Given the description of an element on the screen output the (x, y) to click on. 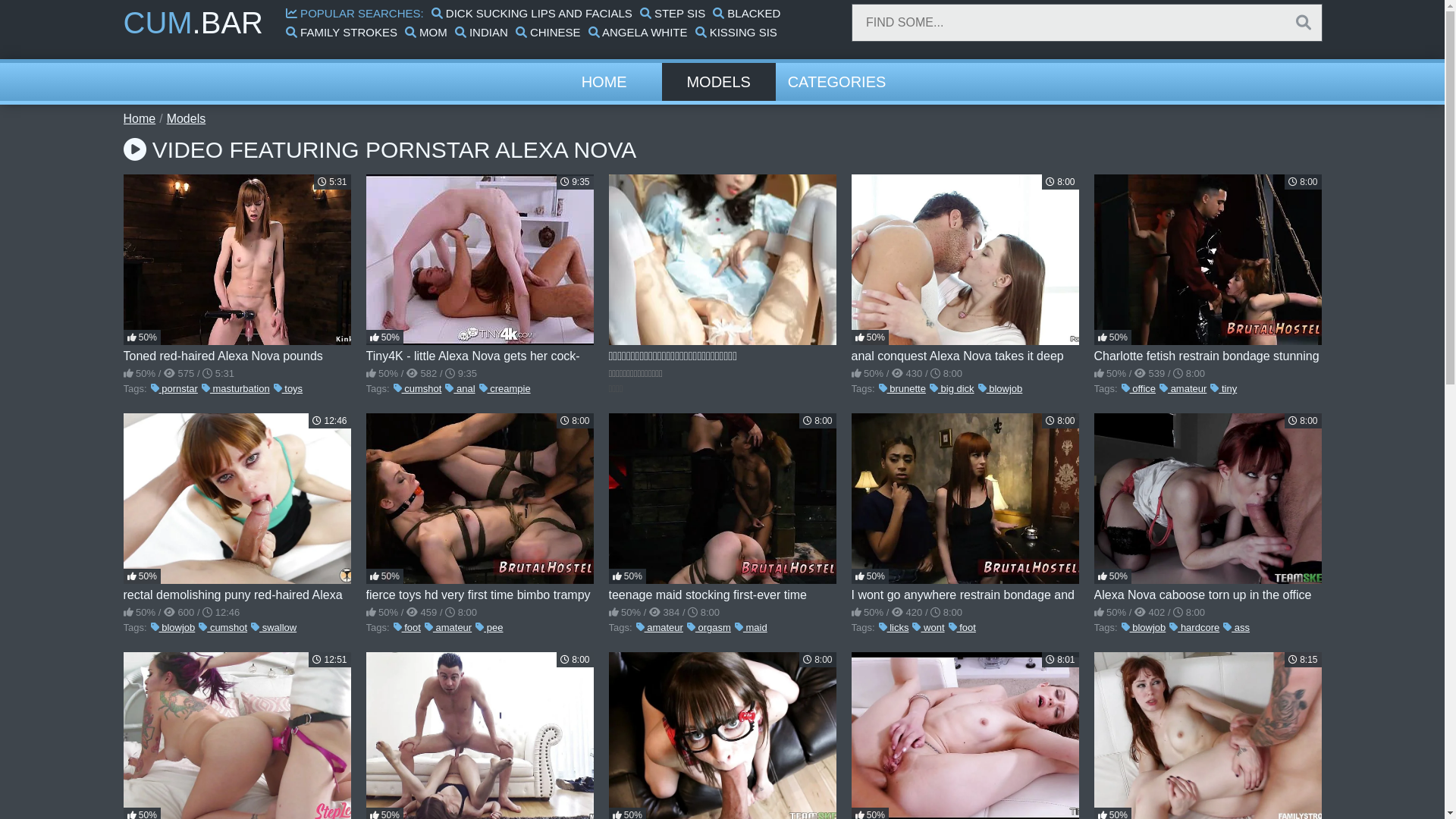
pornstar Element type: text (173, 388)
blowjob Element type: text (172, 627)
Models Element type: text (186, 118)
creampie Element type: text (504, 388)
foot Element type: text (406, 627)
swallow Element type: text (273, 627)
masturbation Element type: text (235, 388)
Toned red-haired Alexa Nova pounds machine Element type: text (236, 269)
pee Element type: text (488, 627)
Search Element type: hover (1303, 22)
tiny Element type: text (1223, 388)
FAMILY STROKES Element type: text (341, 31)
CHINESE Element type: text (547, 31)
amateur Element type: text (1182, 388)
INDIAN Element type: text (481, 31)
maid Element type: text (750, 627)
ass Element type: text (1236, 627)
blowjob Element type: text (1000, 388)
Home Element type: text (138, 118)
big dick Element type: text (951, 388)
foot Element type: text (961, 627)
toys Element type: text (287, 388)
STEP SIS Element type: text (672, 12)
cumshot Element type: text (222, 627)
blowjob Element type: text (1143, 627)
MOM Element type: text (425, 31)
cumshot Element type: text (417, 388)
MODELS Element type: text (718, 81)
amateur Element type: text (447, 627)
anal conquest Alexa Nova takes it deep Element type: text (964, 269)
orgasm Element type: text (709, 627)
amateur Element type: text (659, 627)
brunette Element type: text (901, 388)
HOME Element type: text (604, 81)
wont Element type: text (928, 627)
ANGELA WHITE Element type: text (637, 31)
CATEGORIES Element type: text (836, 81)
DICK SUCKING LIPS AND FACIALS Element type: text (531, 12)
CUM.BAR Element type: text (192, 22)
rectal demolishing puny red-haired Alexa Nova Element type: text (236, 507)
anal Element type: text (459, 388)
Alexa Nova caboose torn up in the office by her boss Element type: text (1207, 507)
hardcore Element type: text (1194, 627)
office Element type: text (1138, 388)
BLACKED Element type: text (746, 12)
KISSING SIS Element type: text (736, 31)
licks Element type: text (893, 627)
